Given the description of an element on the screen output the (x, y) to click on. 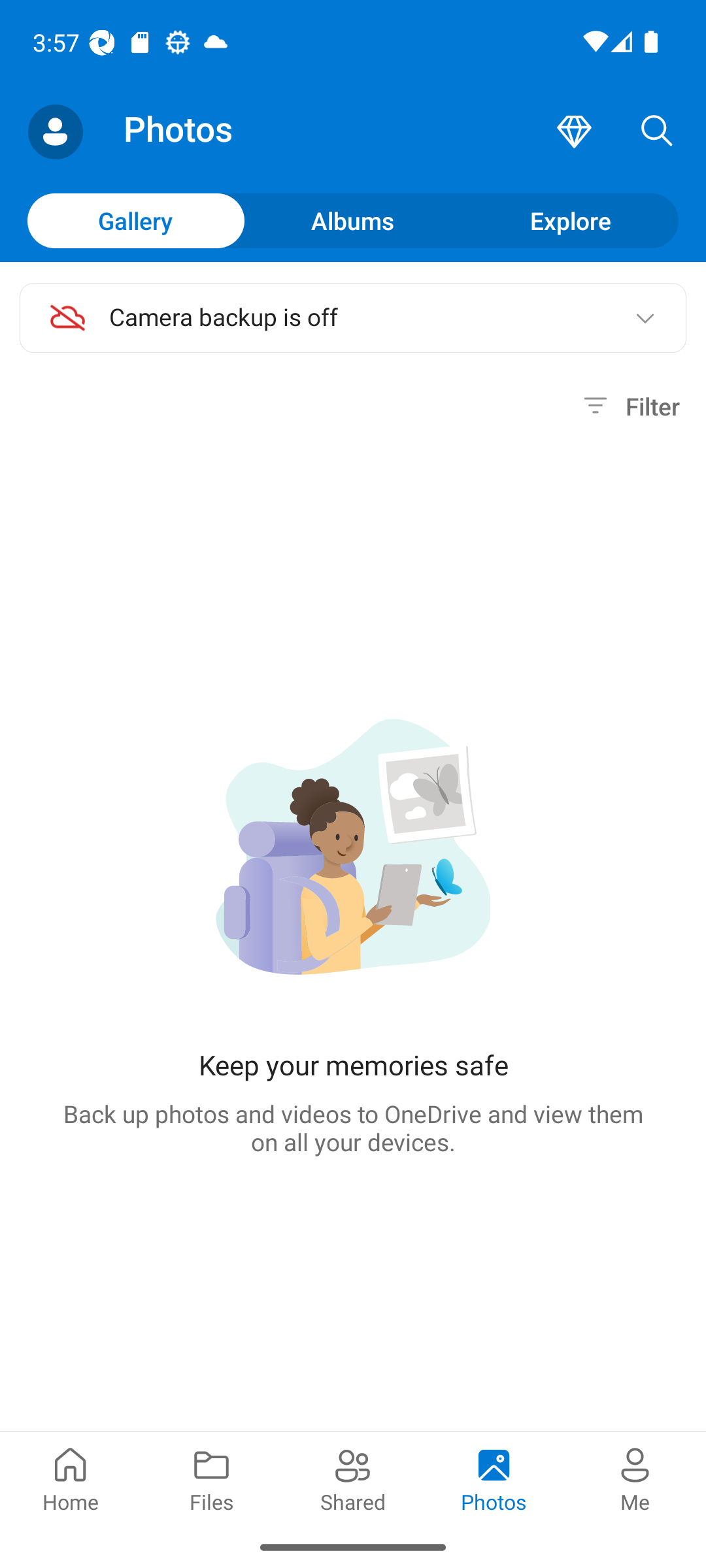
Account switcher (55, 131)
Premium button (574, 131)
Search button (656, 131)
Albums (352, 219)
Explore (569, 219)
Expand camera status banner (645, 318)
Filter (628, 405)
Home pivot Home (70, 1478)
Files pivot Files (211, 1478)
Shared pivot Shared (352, 1478)
Me pivot Me (635, 1478)
